Given the description of an element on the screen output the (x, y) to click on. 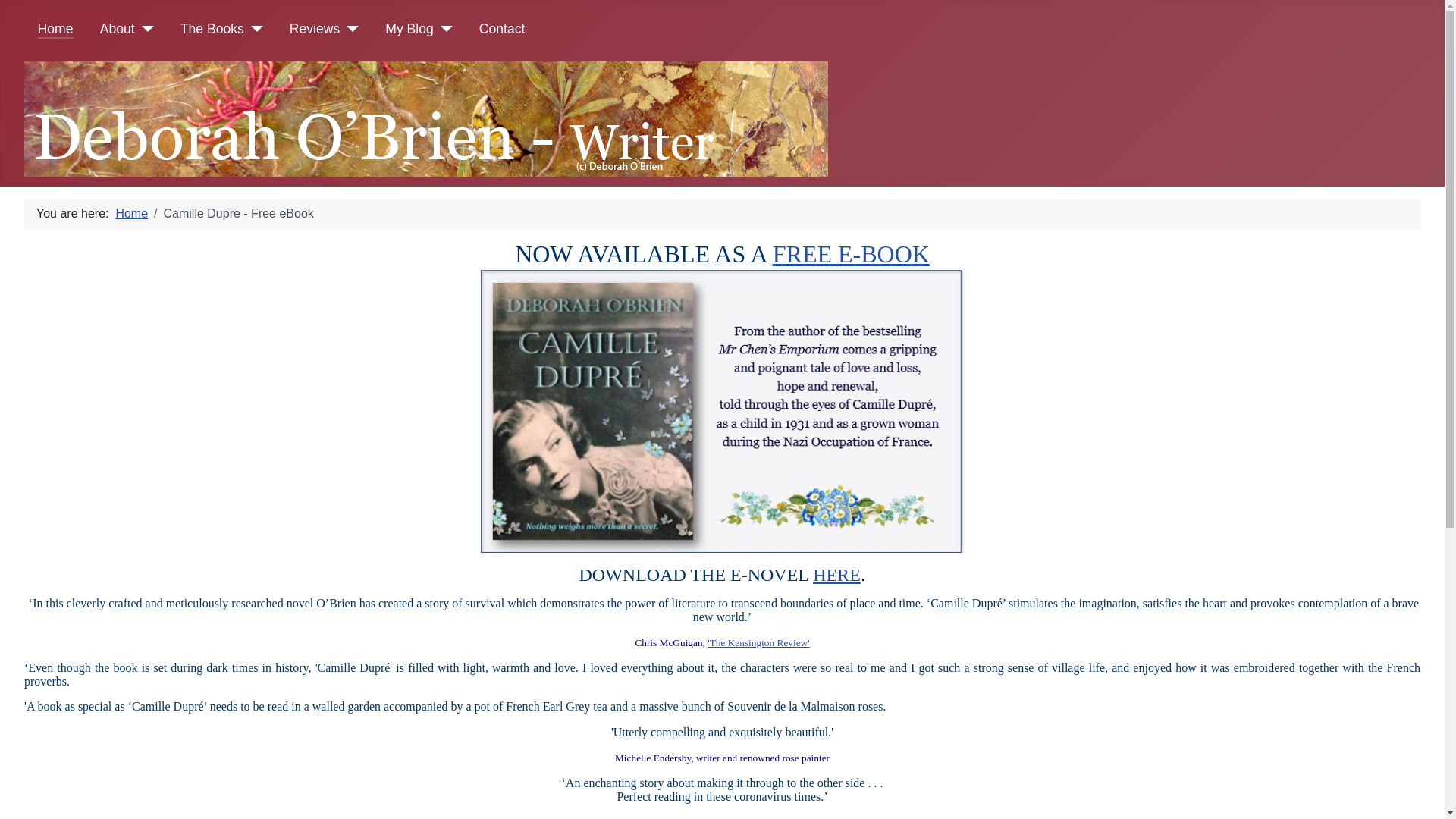
'The Kensington Review' Element type: text (758, 642)
HERE Element type: text (836, 574)
FREE E-BOOK Element type: text (850, 253)
About Element type: text (117, 28)
Contact Element type: text (502, 28)
Reviews Element type: text (314, 28)
Home Element type: text (131, 213)
The Books Element type: text (212, 28)
My Blog Element type: text (409, 28)
Home Element type: text (55, 28)
